Given the description of an element on the screen output the (x, y) to click on. 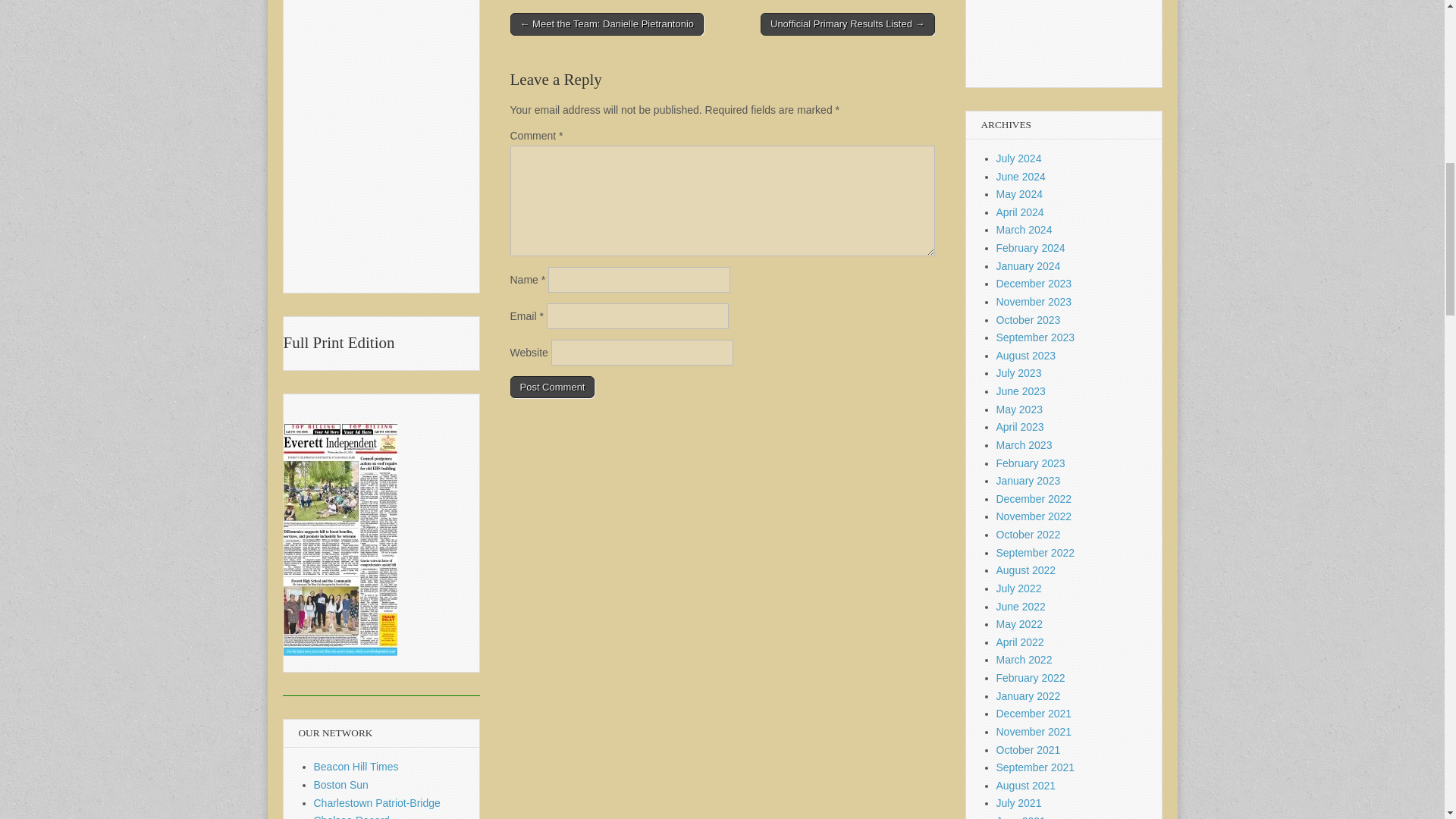
Charlestown Patriot-Bridge (377, 802)
Chelsea Record (352, 816)
Beacon Hill Times (356, 766)
Post Comment (551, 386)
Post Comment (551, 386)
Boston Sun (341, 784)
